Given the description of an element on the screen output the (x, y) to click on. 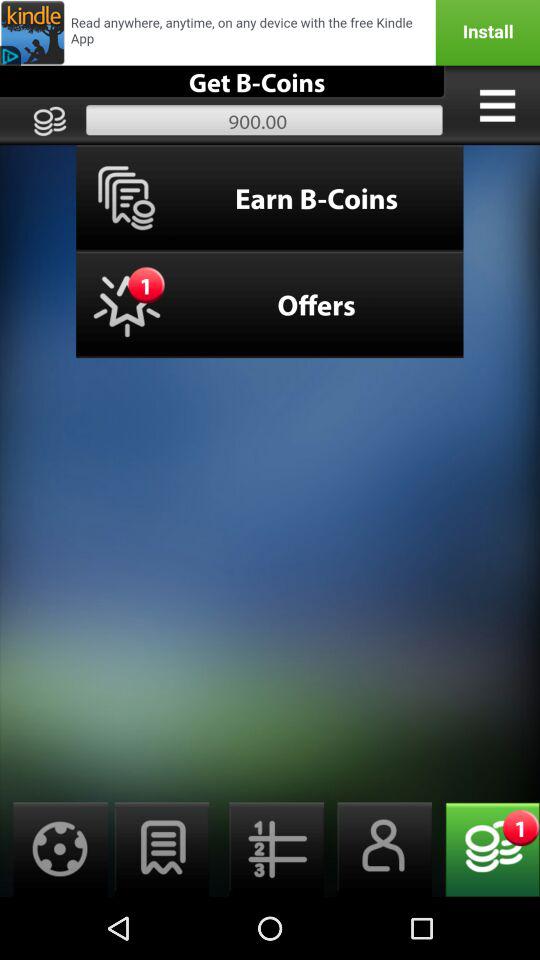
switch to menu option (497, 105)
